Given the description of an element on the screen output the (x, y) to click on. 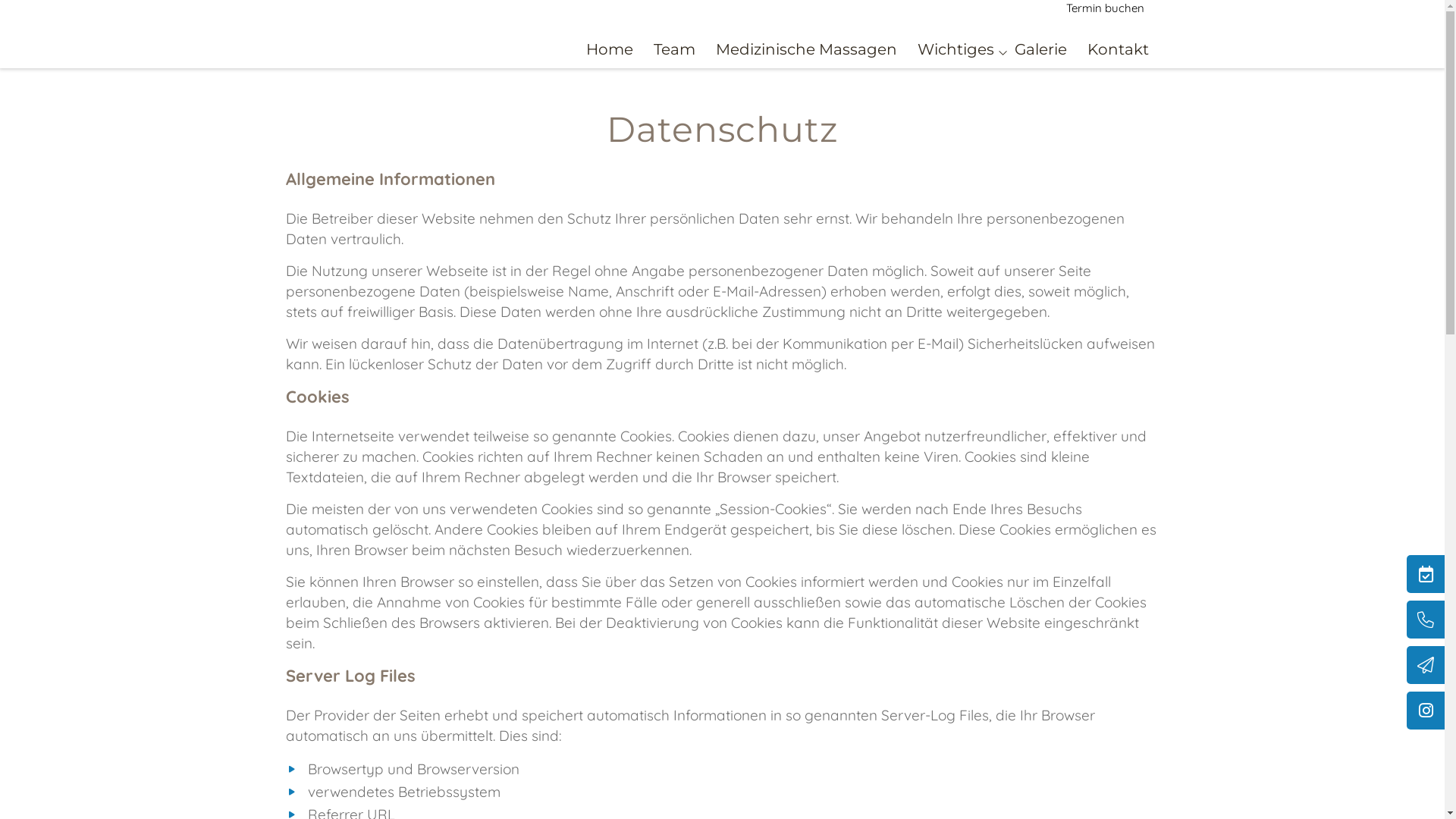
Home Element type: text (608, 49)
Team Element type: text (674, 49)
Wichtiges Element type: text (955, 49)
Medizinische Massagen Element type: text (806, 49)
Kontakt Element type: text (1117, 49)
Termin buchen Element type: text (1105, 7)
Galerie Element type: text (1040, 49)
